Given the description of an element on the screen output the (x, y) to click on. 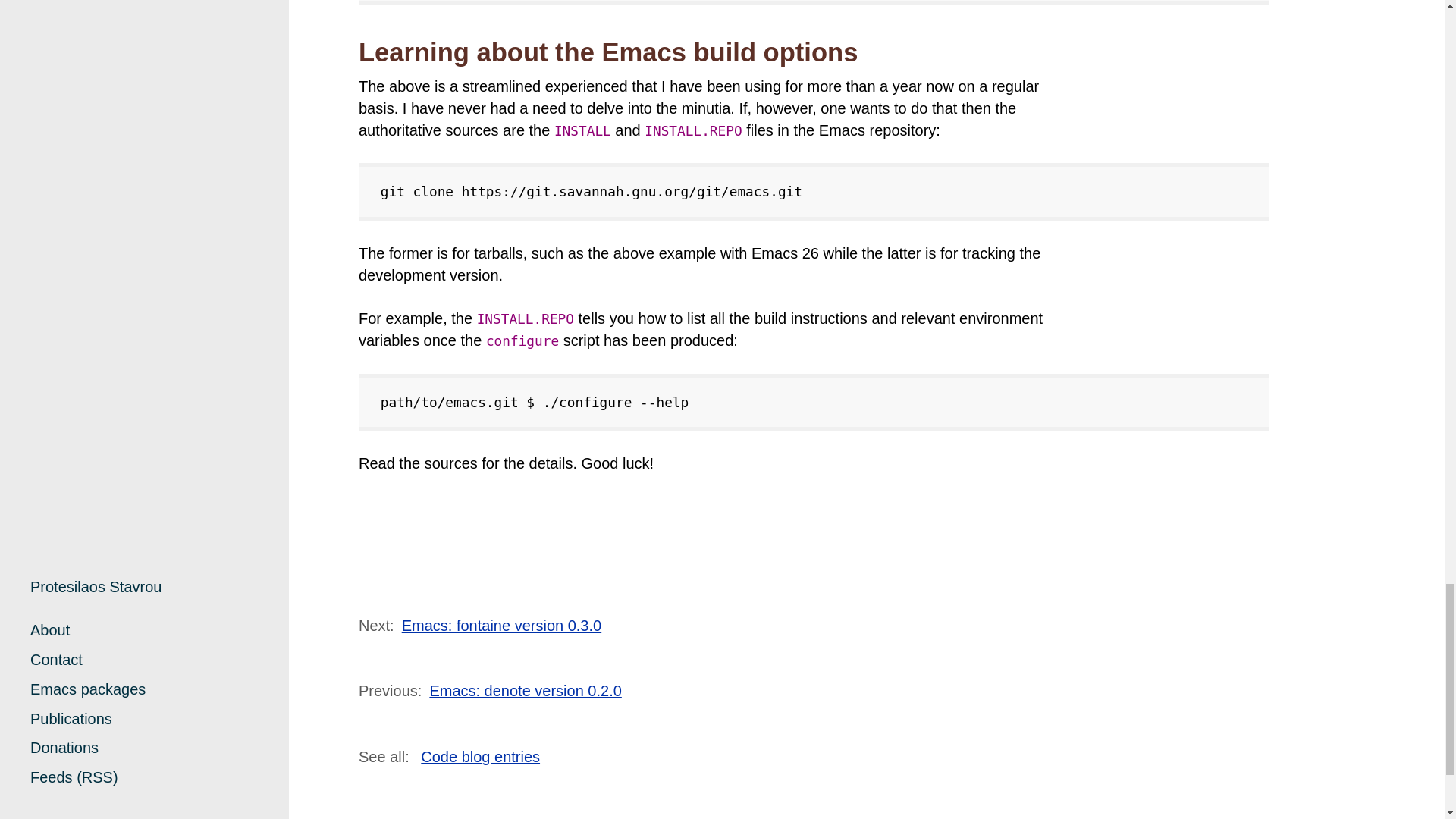
Emacs: fontaine version 0.3.0 (501, 625)
Code blog entries (480, 756)
Emacs: denote version 0.2.0 (525, 690)
